Given the description of an element on the screen output the (x, y) to click on. 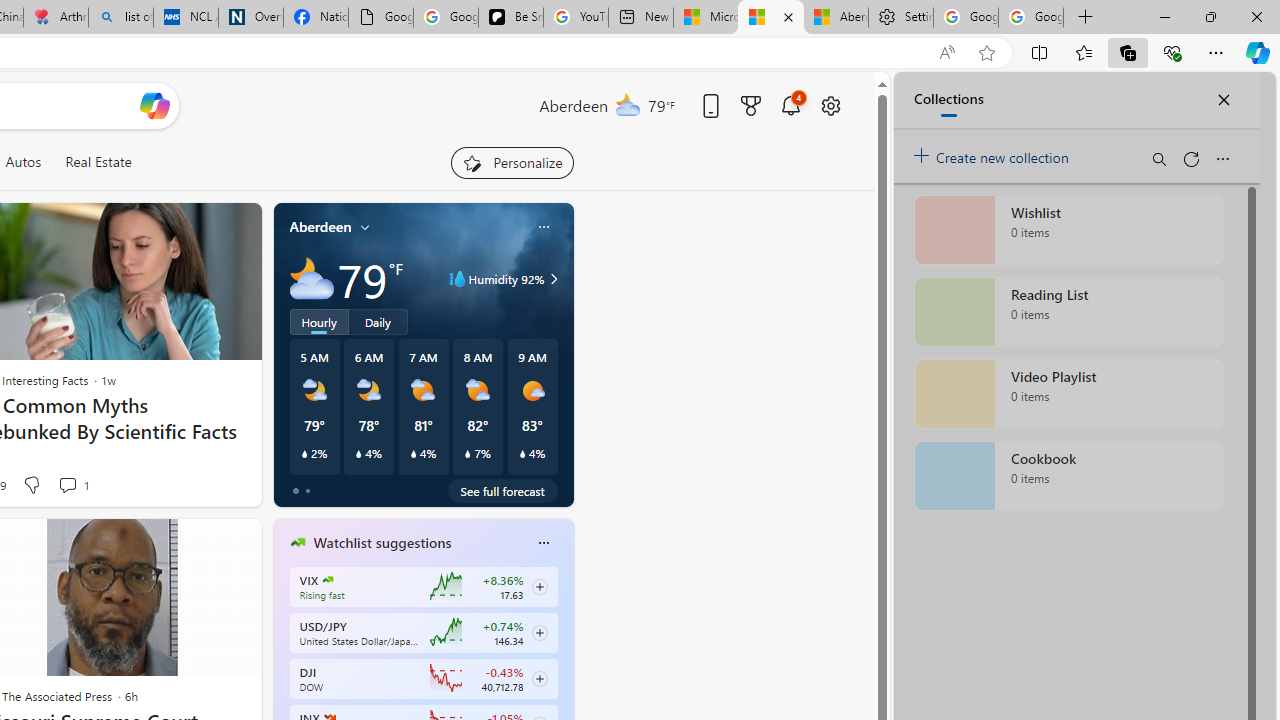
Daily (378, 321)
Aberdeen (320, 227)
Class: weather-arrow-glyph (554, 278)
next (563, 670)
